Given the description of an element on the screen output the (x, y) to click on. 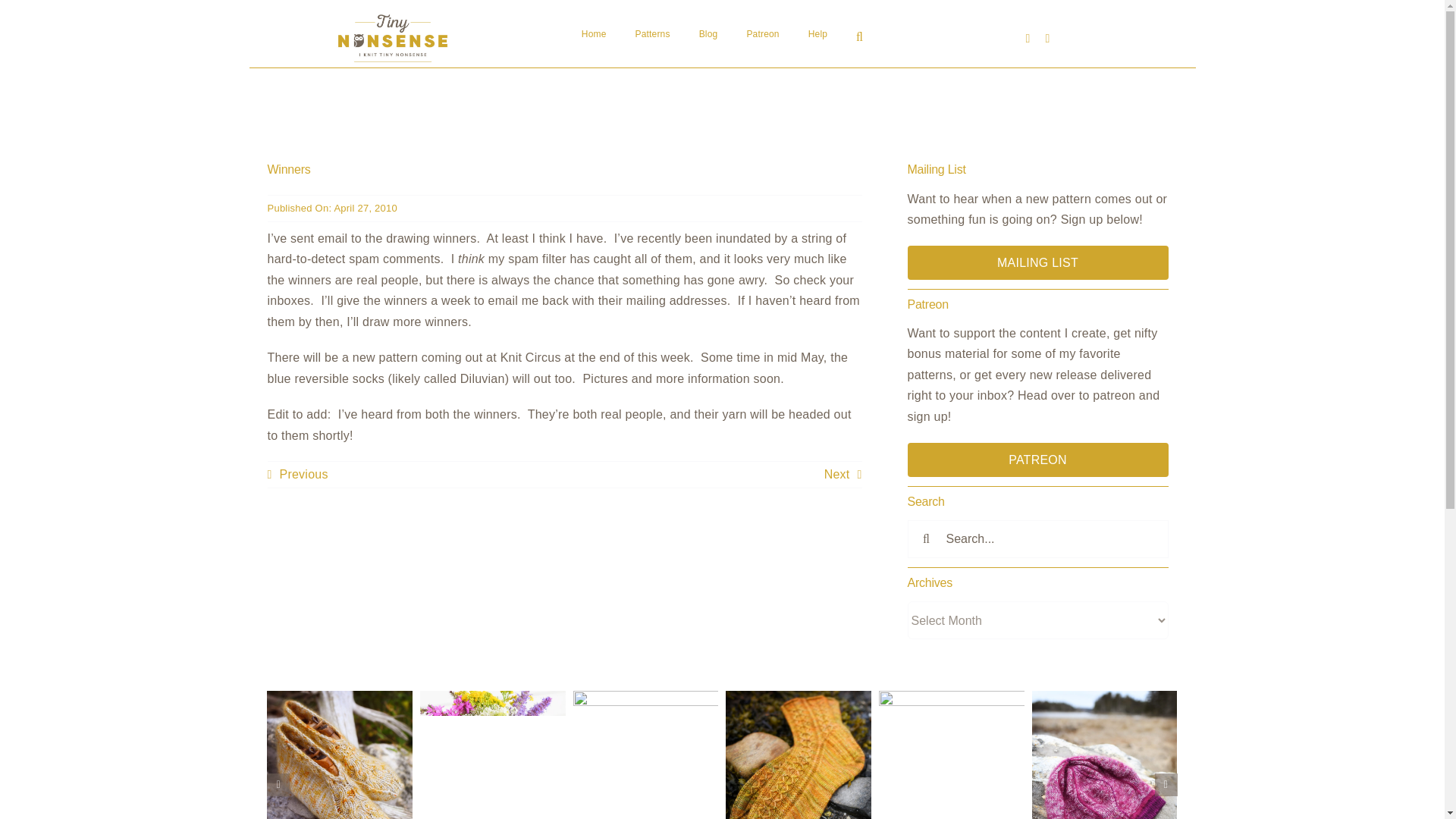
Previous (296, 474)
Patterns (651, 34)
MAILING LIST (1037, 262)
PATREON (1037, 459)
Patreon (761, 34)
Next (842, 474)
